Given the description of an element on the screen output the (x, y) to click on. 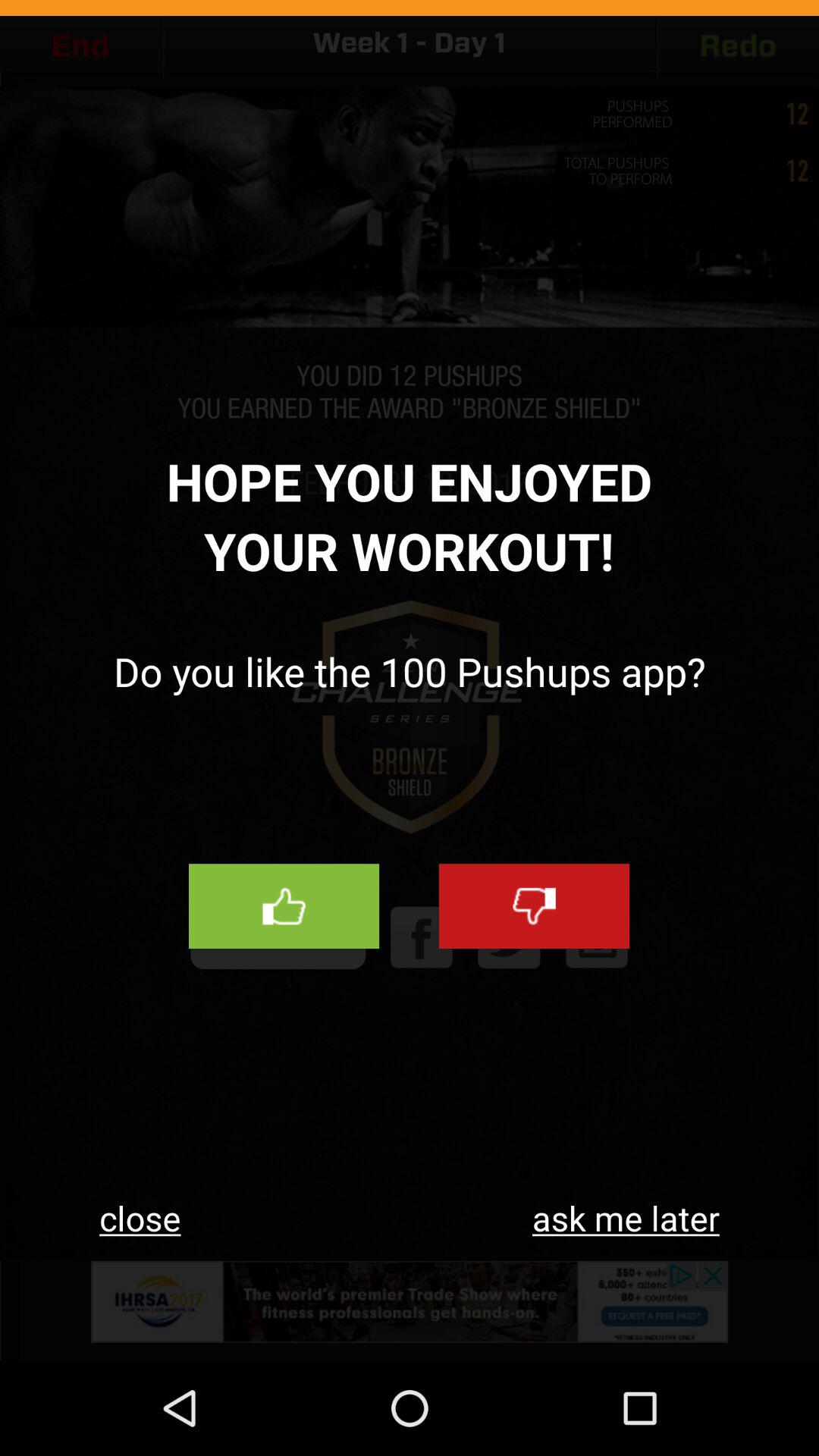
like button (283, 905)
